Given the description of an element on the screen output the (x, y) to click on. 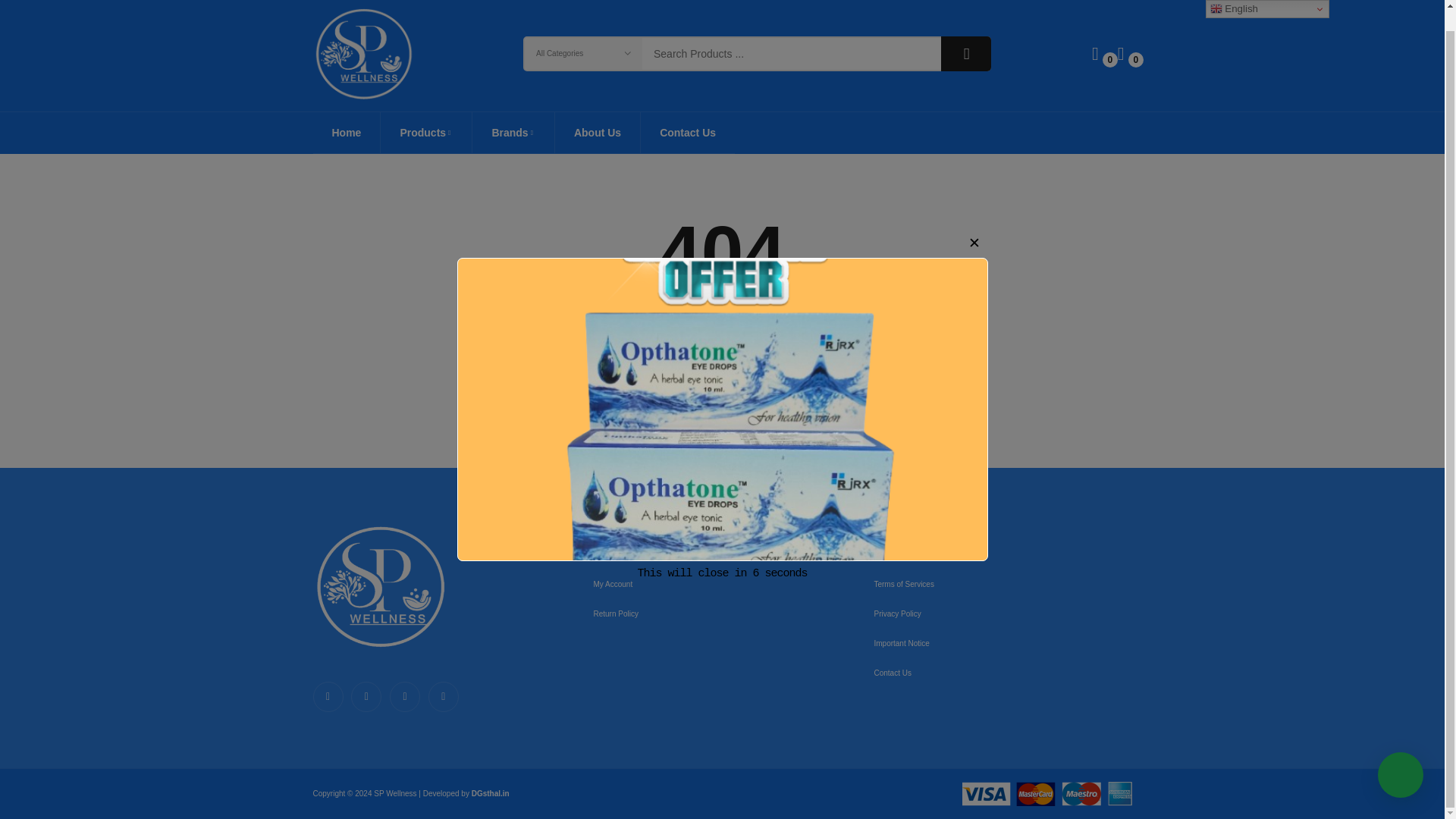
Products (425, 132)
Home (346, 132)
Brands (512, 132)
